Given the description of an element on the screen output the (x, y) to click on. 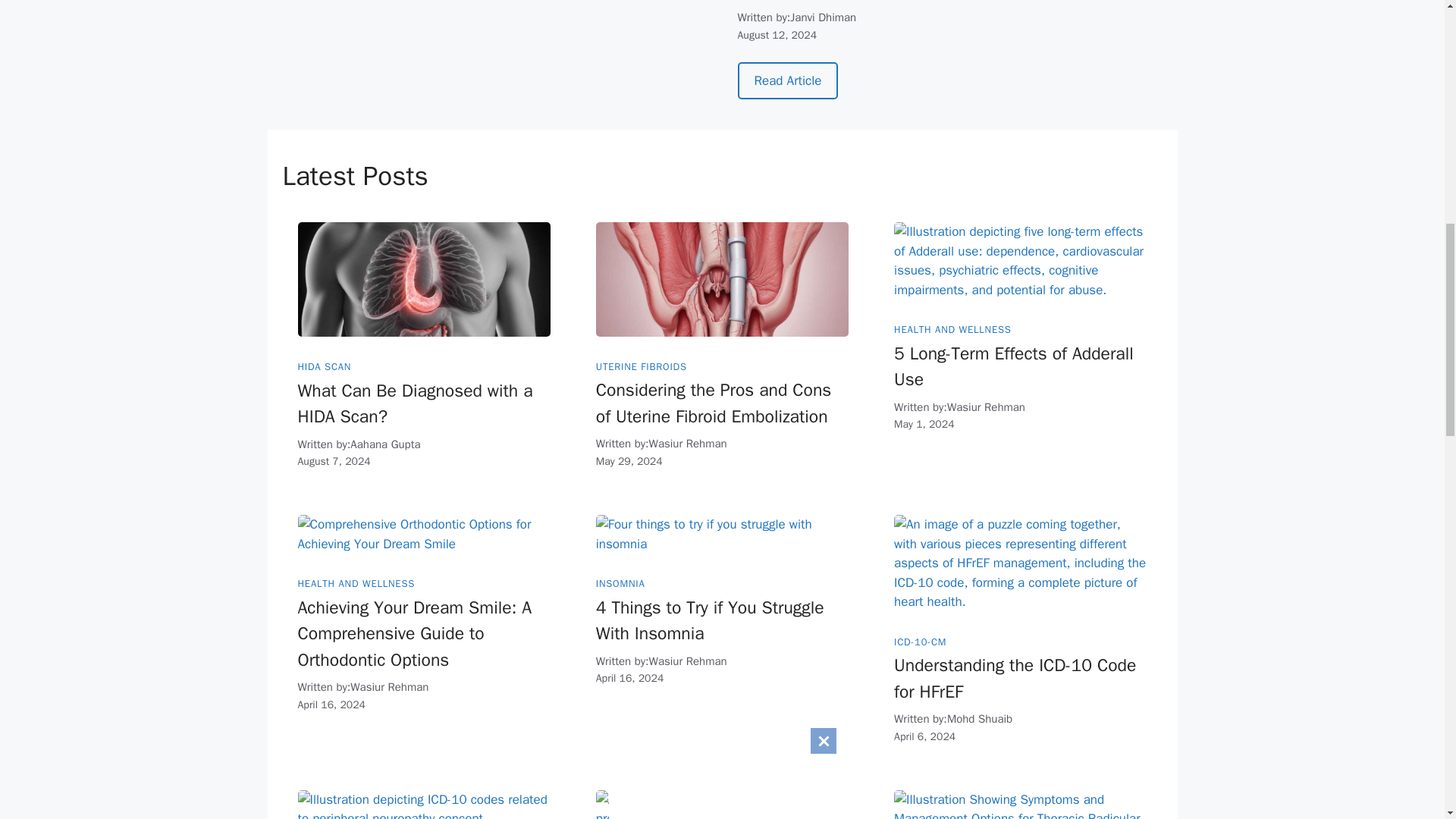
HIDA SCAN (323, 366)
UTERINE FIBROIDS (641, 366)
Read Article (787, 80)
5 Long-Term Effects of Adderall Use (1013, 367)
HEALTH AND WELLNESS (355, 583)
HEALTH AND WELLNESS (952, 328)
What Can Be Diagnosed with a HIDA Scan? (414, 404)
4 Things to Try if You Struggle With Insomnia (709, 621)
